Given the description of an element on the screen output the (x, y) to click on. 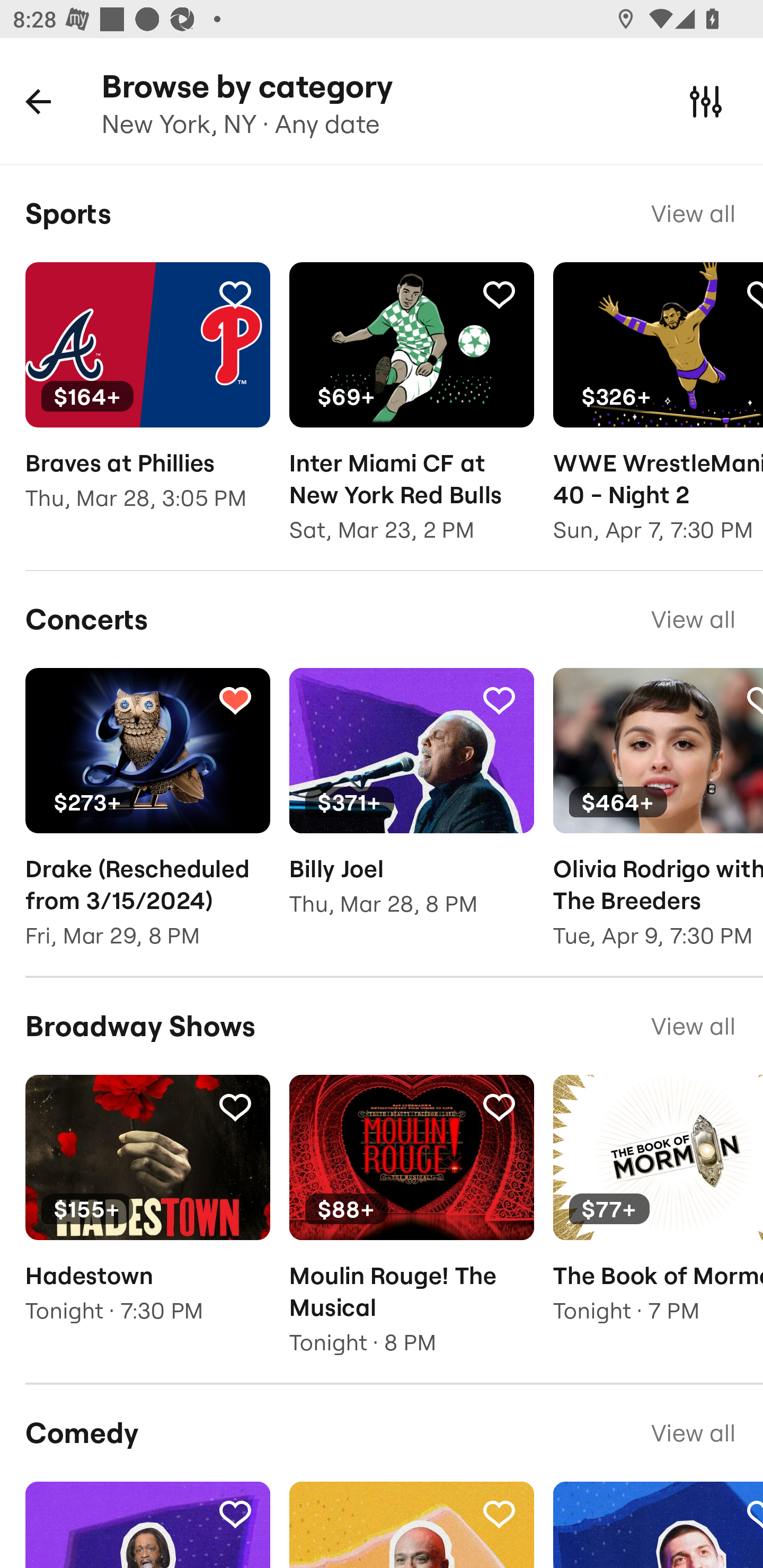
Back (38, 100)
Filters (705, 100)
View all (693, 212)
Tracking (234, 293)
Tracking (498, 293)
View all (693, 618)
Tracking $371+ Billy Joel Thu, Mar 28, 8 PM (411, 804)
Tracking (234, 699)
Tracking (498, 699)
View all (693, 1026)
Tracking $155+ Hadestown Tonight · 7:30 PM (147, 1212)
Tracking $77+ The Book of Mormon Tonight · 7 PM (658, 1212)
Tracking (234, 1106)
Tracking (498, 1106)
View all (693, 1432)
Tracking (234, 1512)
Tracking (498, 1512)
